Given the description of an element on the screen output the (x, y) to click on. 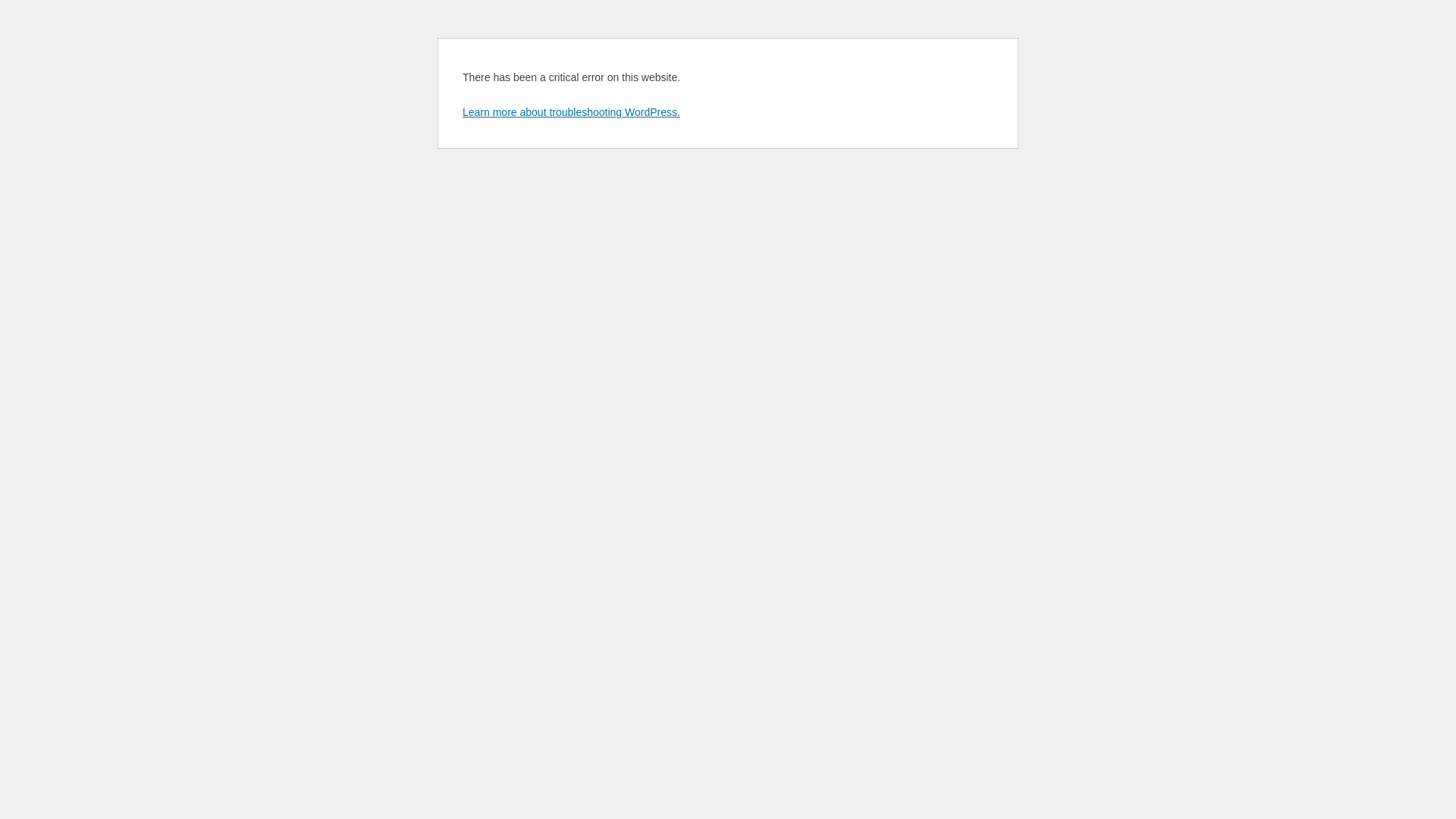
Learn more about troubleshooting WordPress. Element type: text (571, 112)
